Given the description of an element on the screen output the (x, y) to click on. 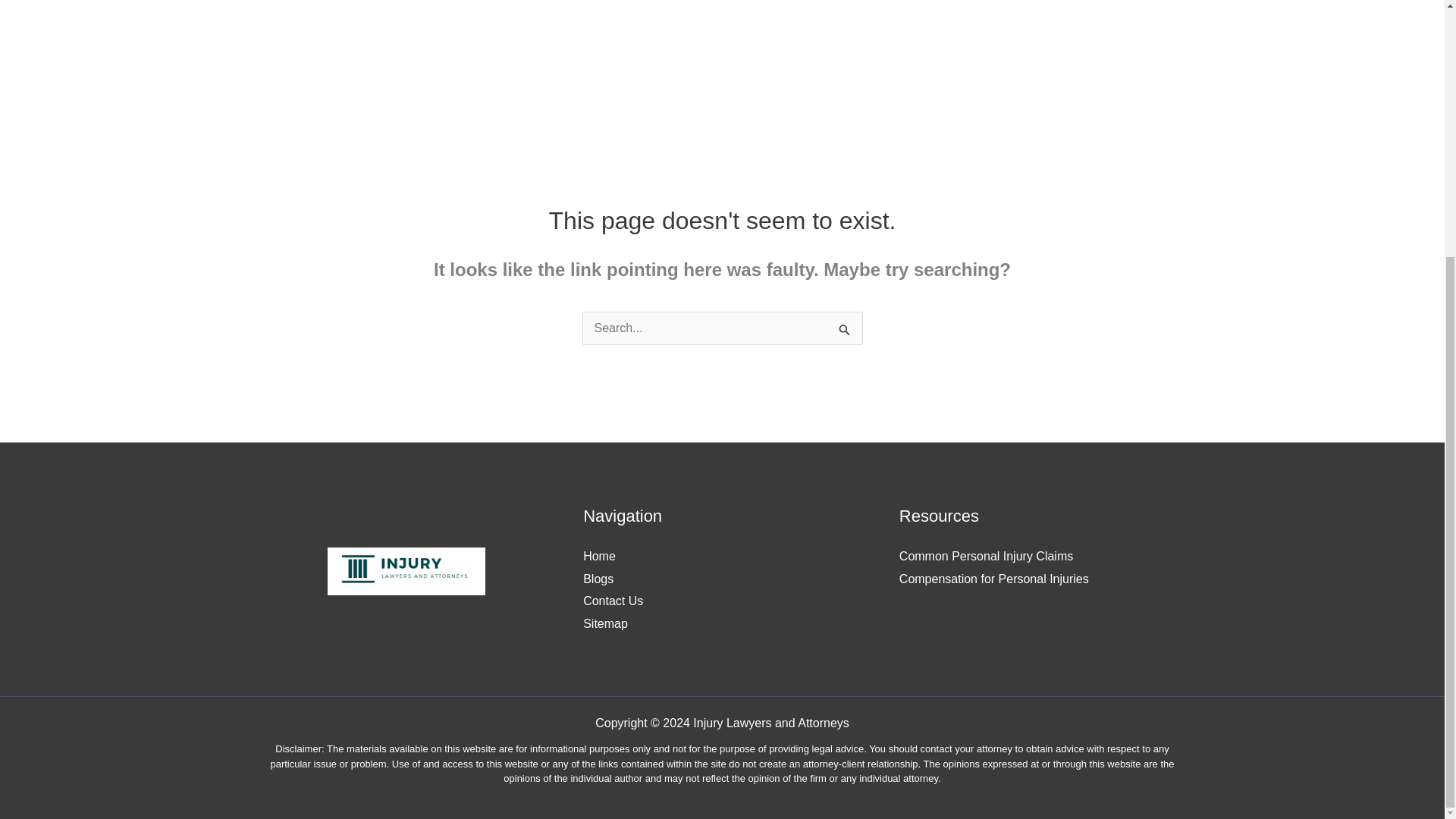
Compensation for Personal Injuries (994, 578)
Home (599, 555)
Blogs (597, 578)
Common Personal Injury Claims (986, 555)
Sitemap (605, 623)
Contact Us (613, 600)
